Given the description of an element on the screen output the (x, y) to click on. 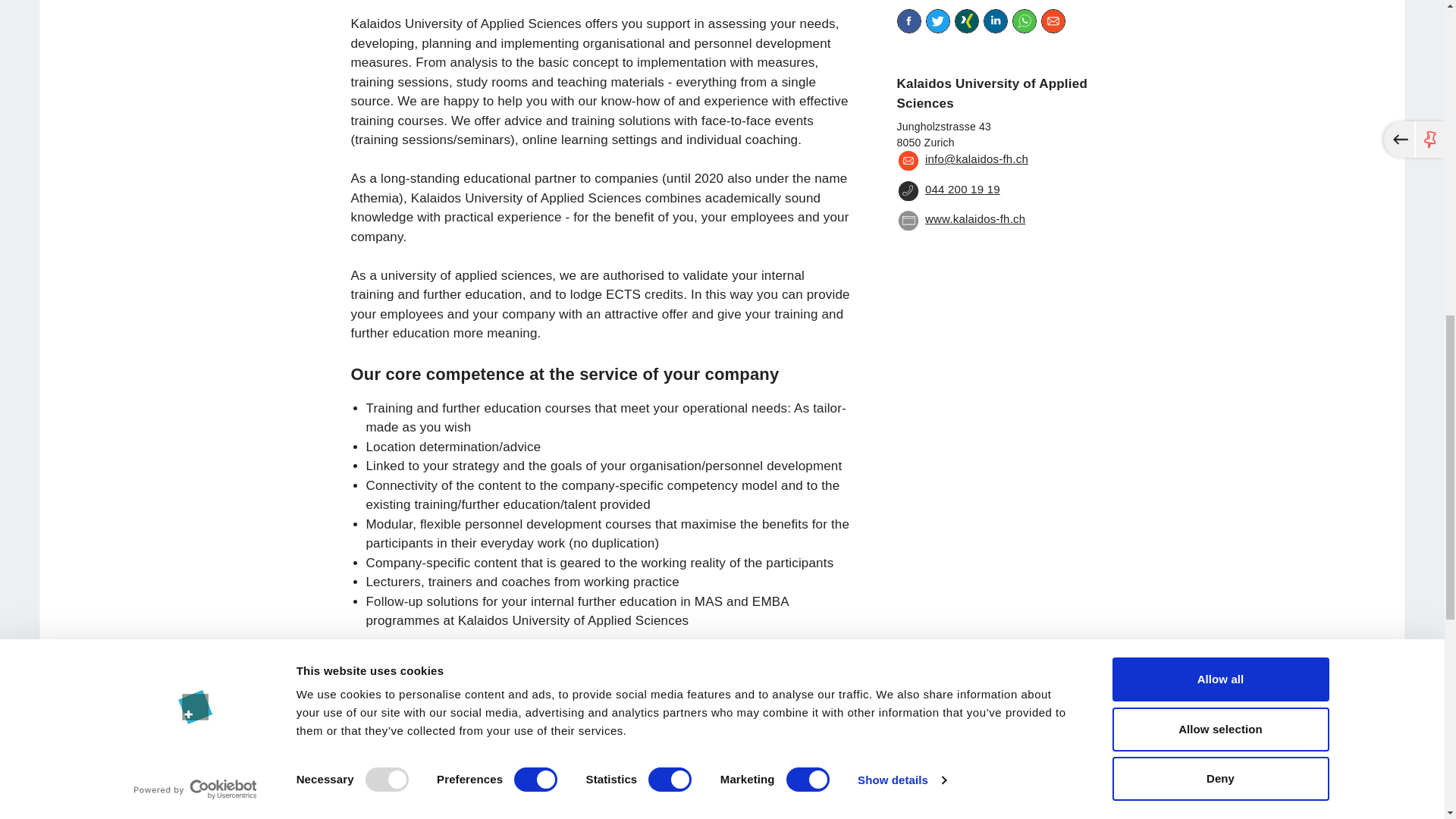
Share this page on WhatsApp (1023, 21)
E-mail (961, 160)
Share this page by e-mail (1052, 21)
Share this page on LinkedIn (994, 21)
Share this page on Xing (965, 21)
Kalaidos UAS (960, 220)
Share this page on Twitter (936, 21)
Share this page on Facebook (908, 21)
